Given the description of an element on the screen output the (x, y) to click on. 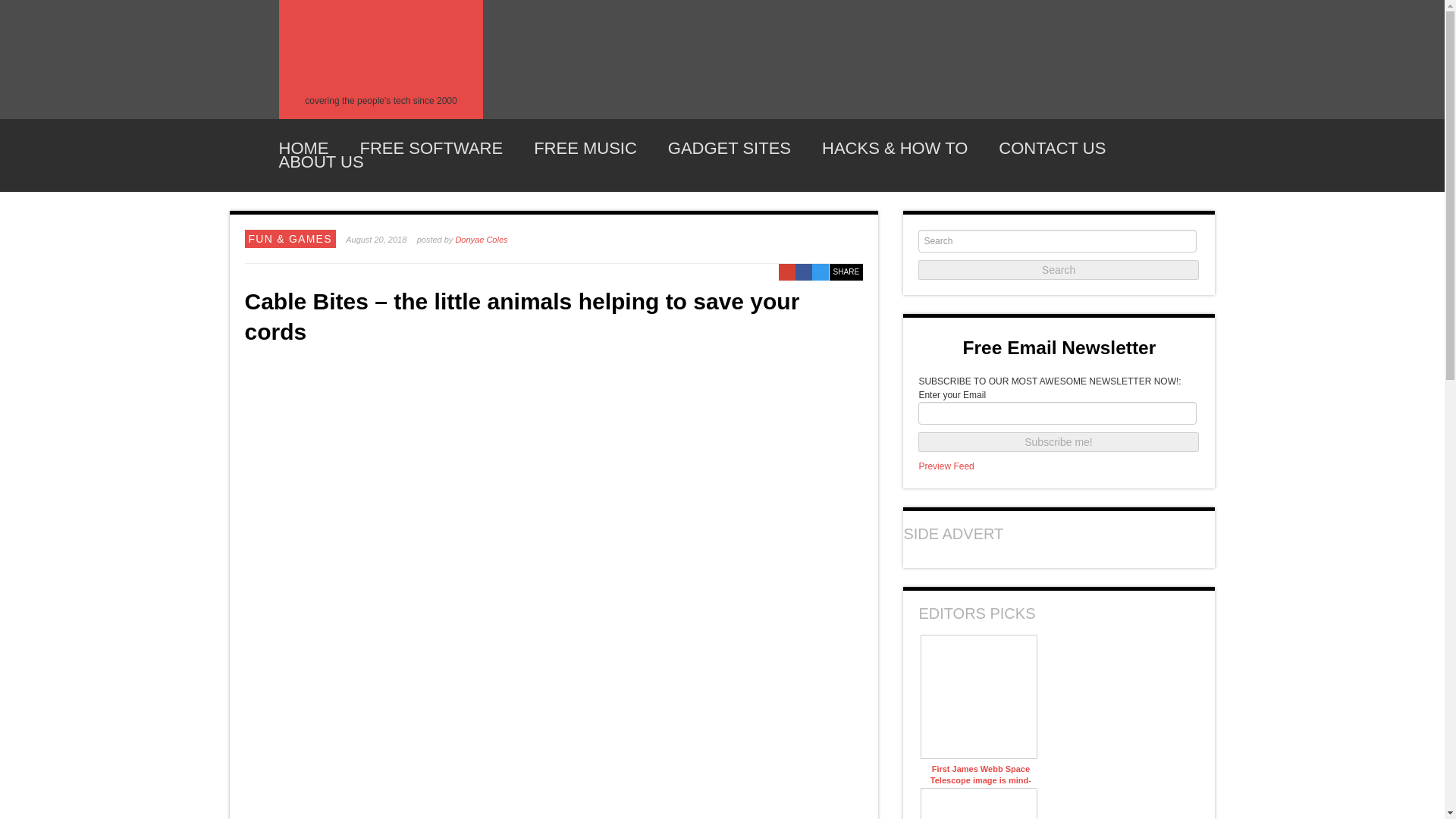
Search (1058, 270)
SHARE (846, 271)
GADGET SITES (729, 148)
FREE SOFTWARE (430, 148)
Subscribe me! (1058, 442)
Subscribe me! (1058, 442)
ABOUT US (321, 161)
Search (1058, 270)
FREE MUSIC (585, 148)
CONTACT US (1051, 148)
